Given the description of an element on the screen output the (x, y) to click on. 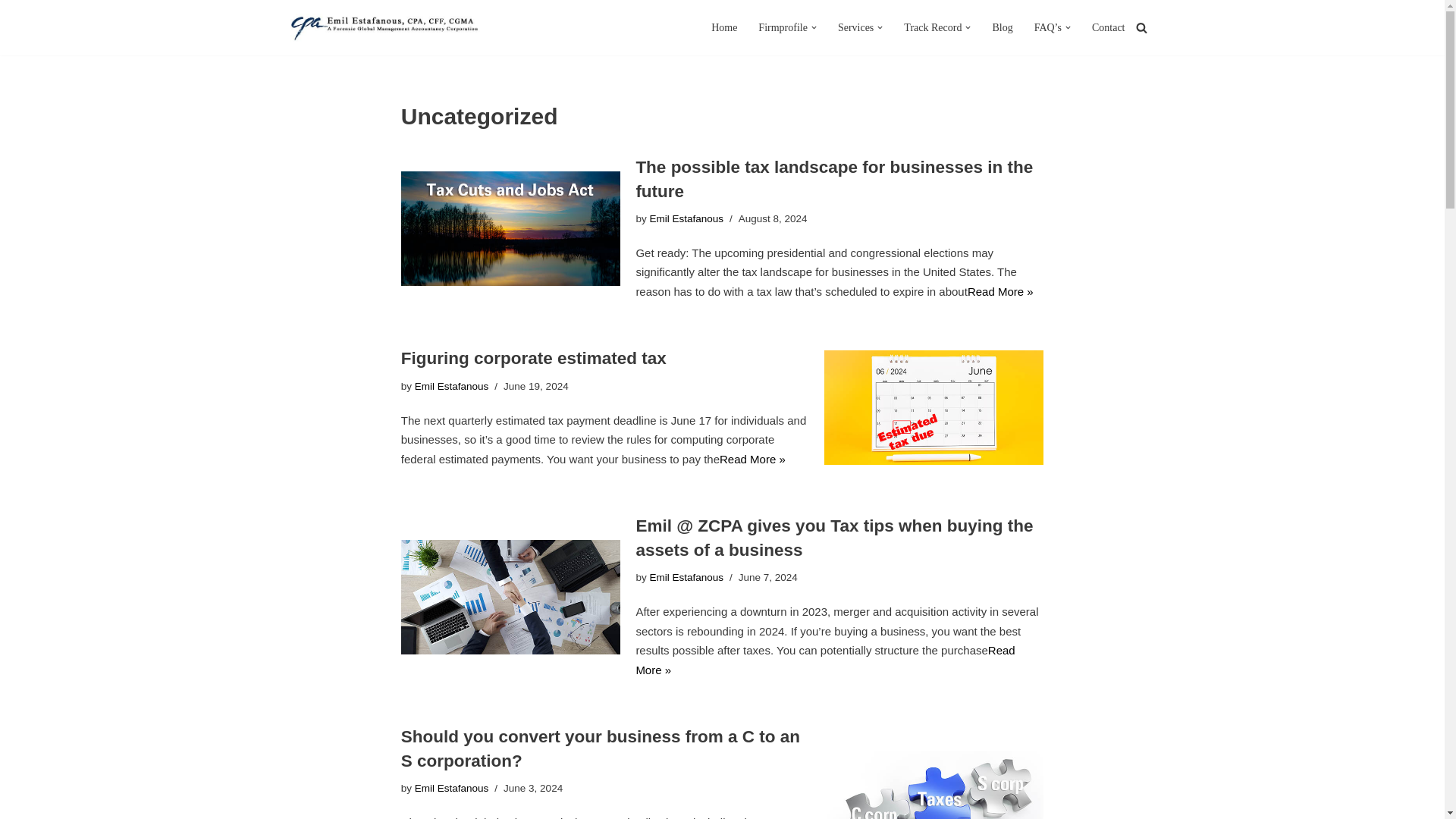
Figuring corporate estimated tax (933, 407)
Posts by Emil Estafanous (451, 386)
Skip to content (11, 31)
Blog (1001, 27)
Services (855, 27)
Home (723, 27)
Posts by Emil Estafanous (686, 218)
Firmprofile (783, 27)
Track Record (932, 27)
Posts by Emil Estafanous (686, 577)
